Given the description of an element on the screen output the (x, y) to click on. 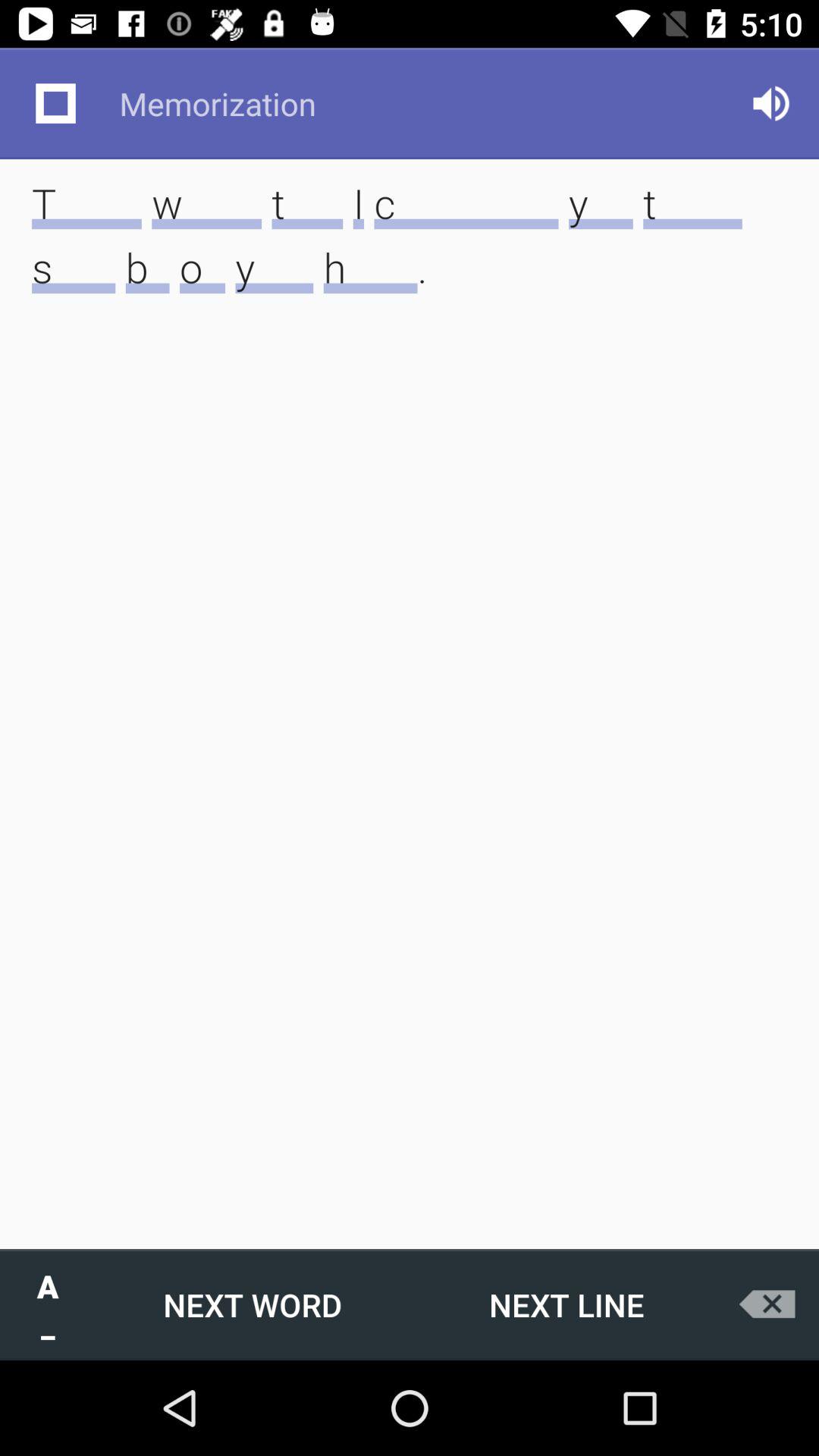
click the icon next to the next line icon (252, 1304)
